Given the description of an element on the screen output the (x, y) to click on. 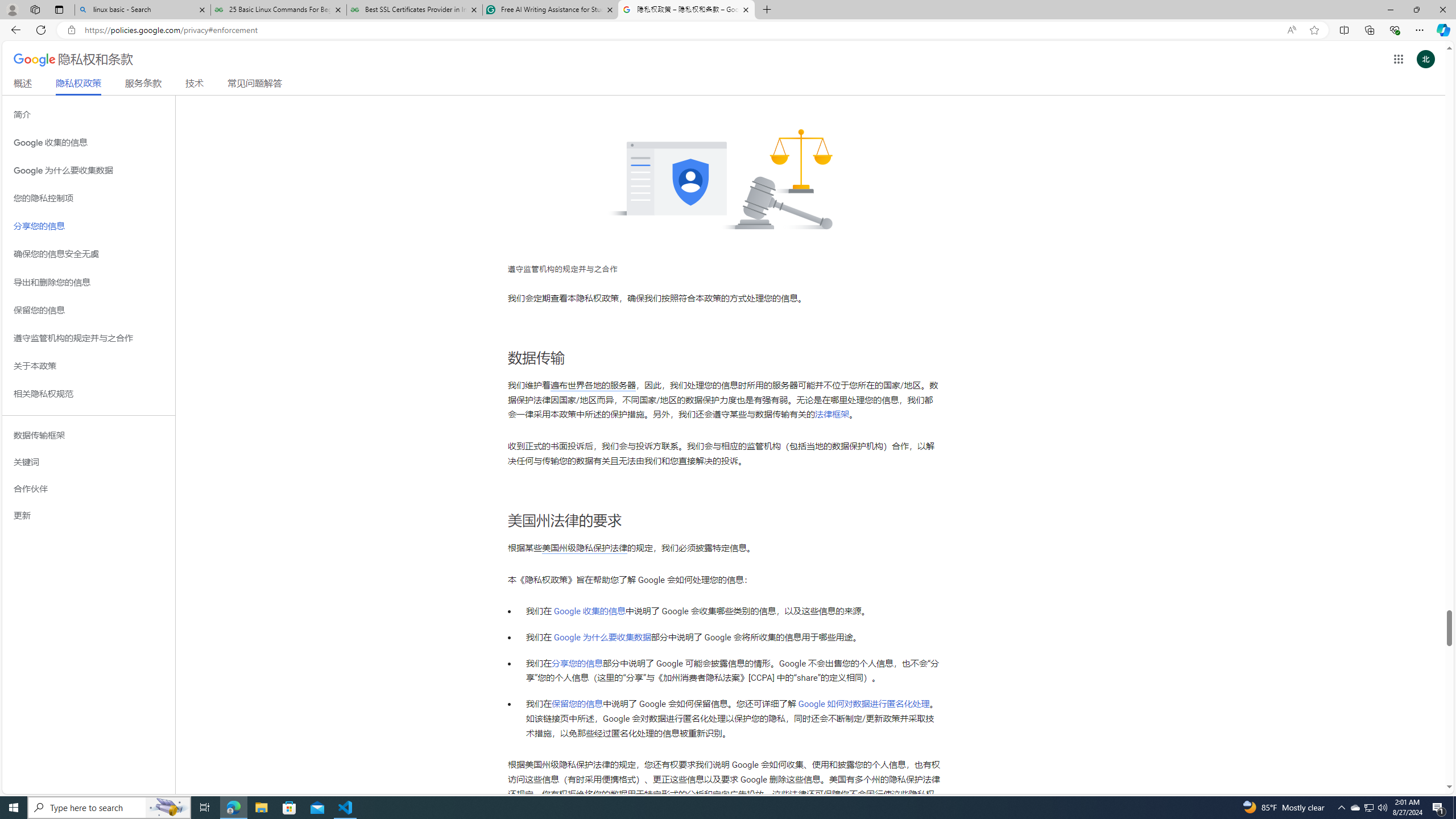
linux basic - Search (142, 9)
